Given the description of an element on the screen output the (x, y) to click on. 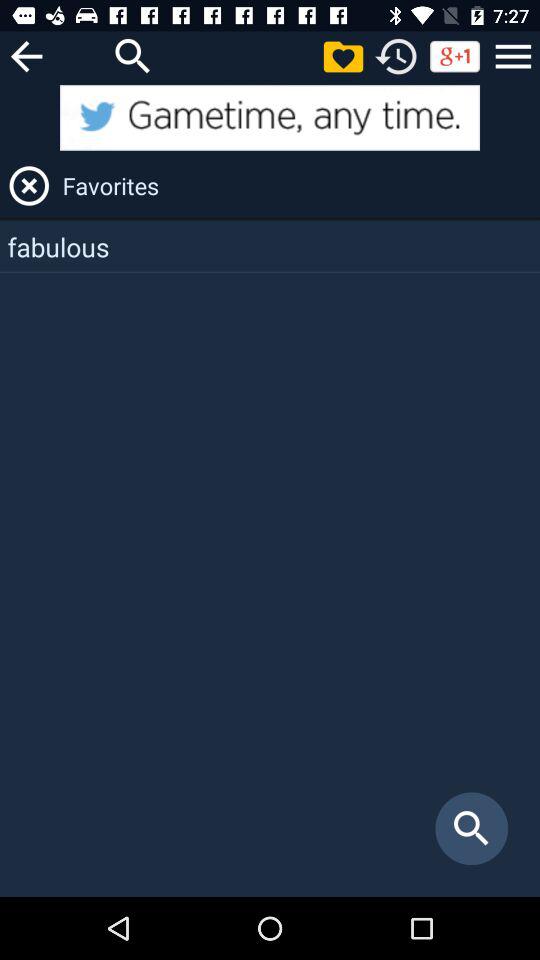
x (29, 185)
